Given the description of an element on the screen output the (x, y) to click on. 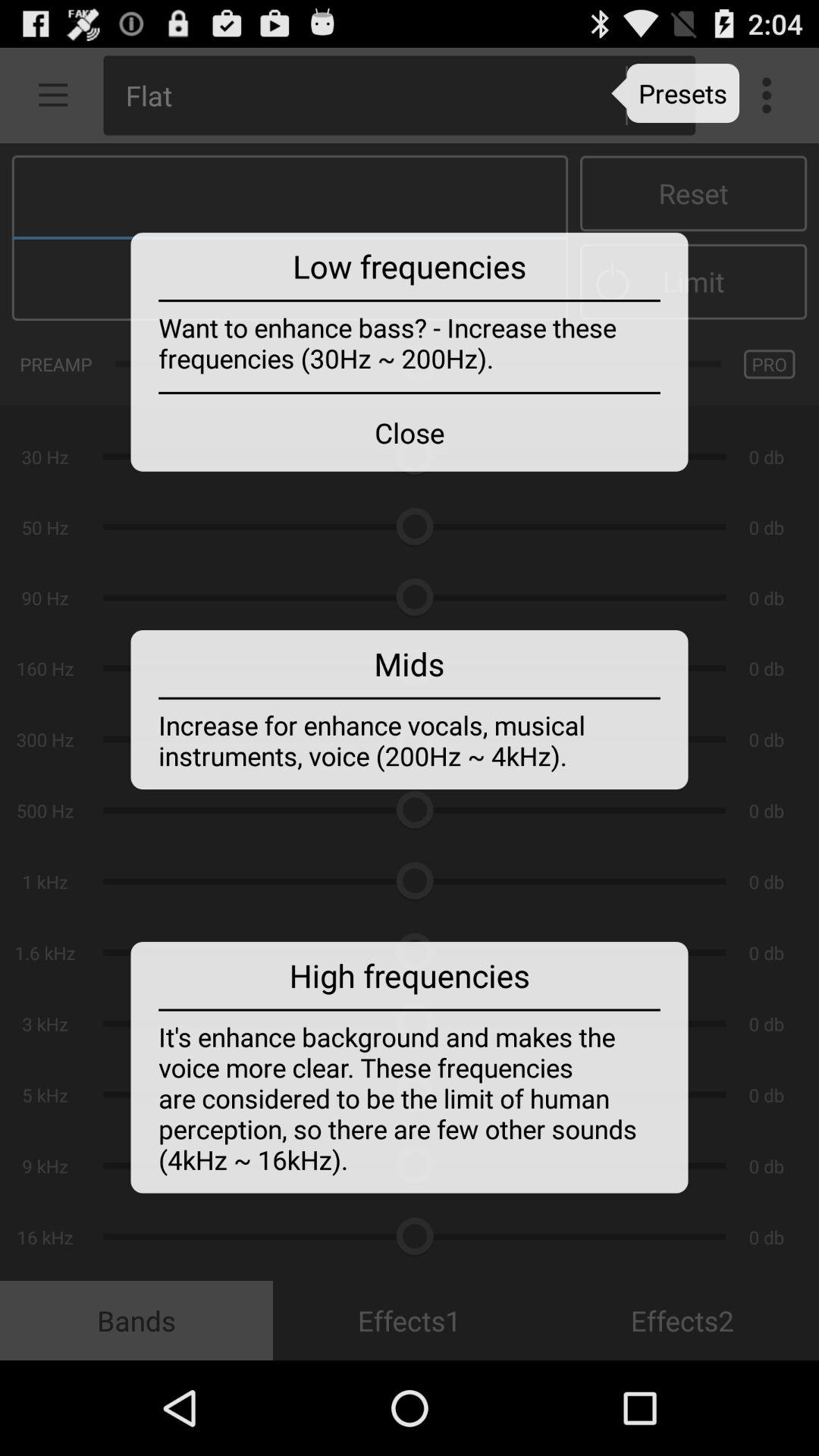
flip until the close (409, 432)
